Given the description of an element on the screen output the (x, y) to click on. 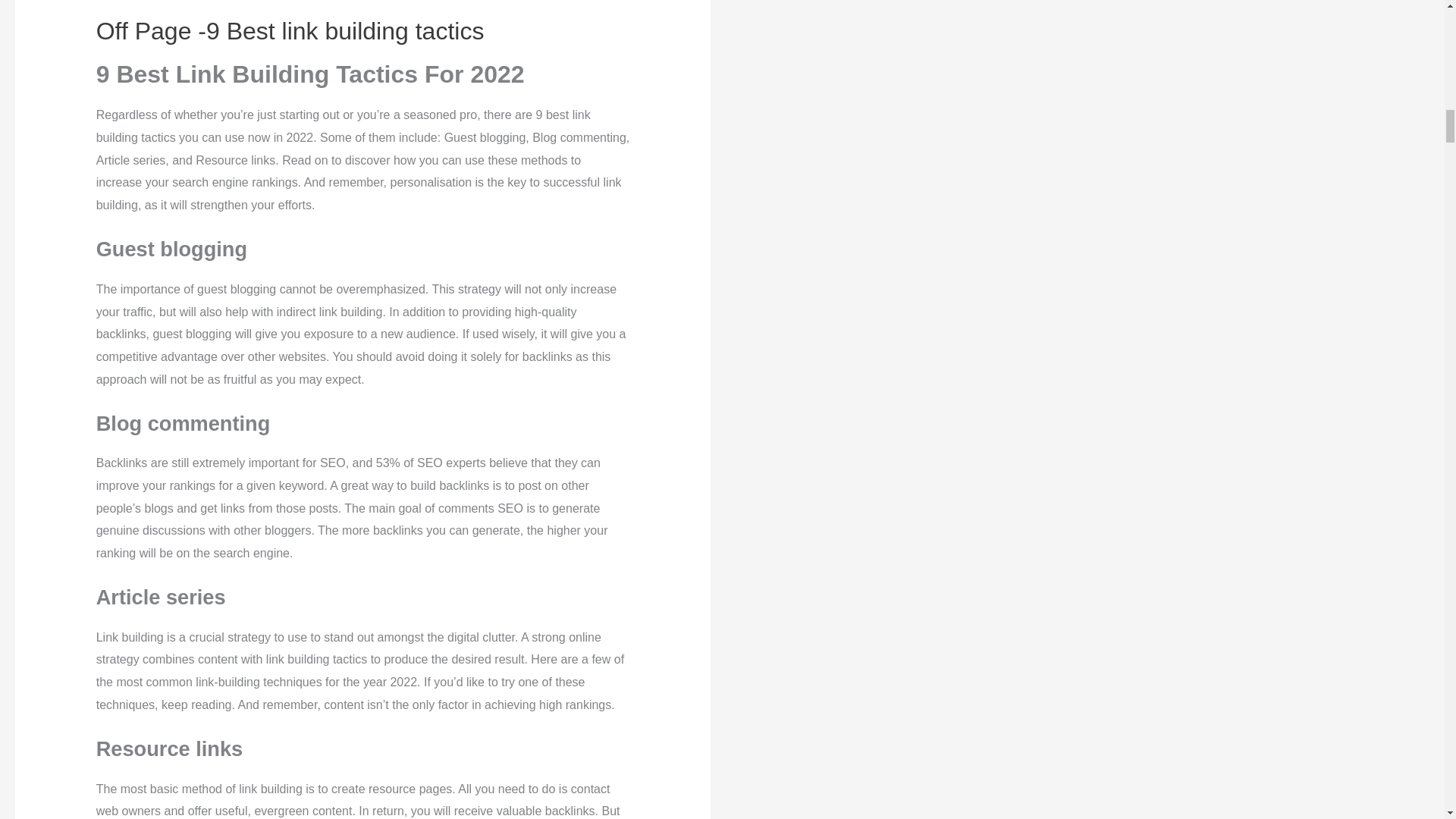
Off Page -9 Best link building tactics (290, 31)
